Given the description of an element on the screen output the (x, y) to click on. 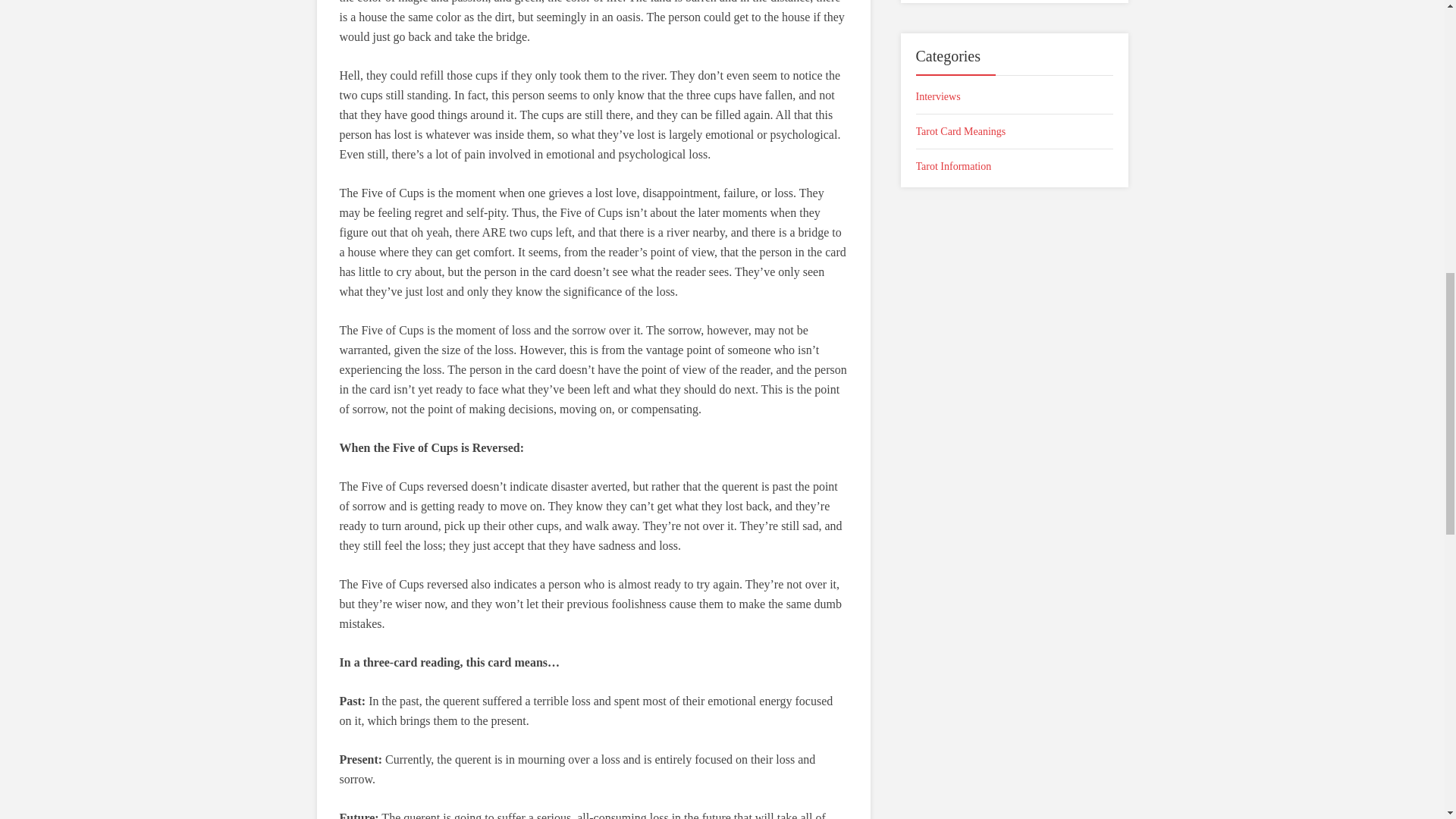
Tarot Information (1014, 166)
Tarot Card Meanings (1014, 131)
Interviews (1014, 96)
